Given the description of an element on the screen output the (x, y) to click on. 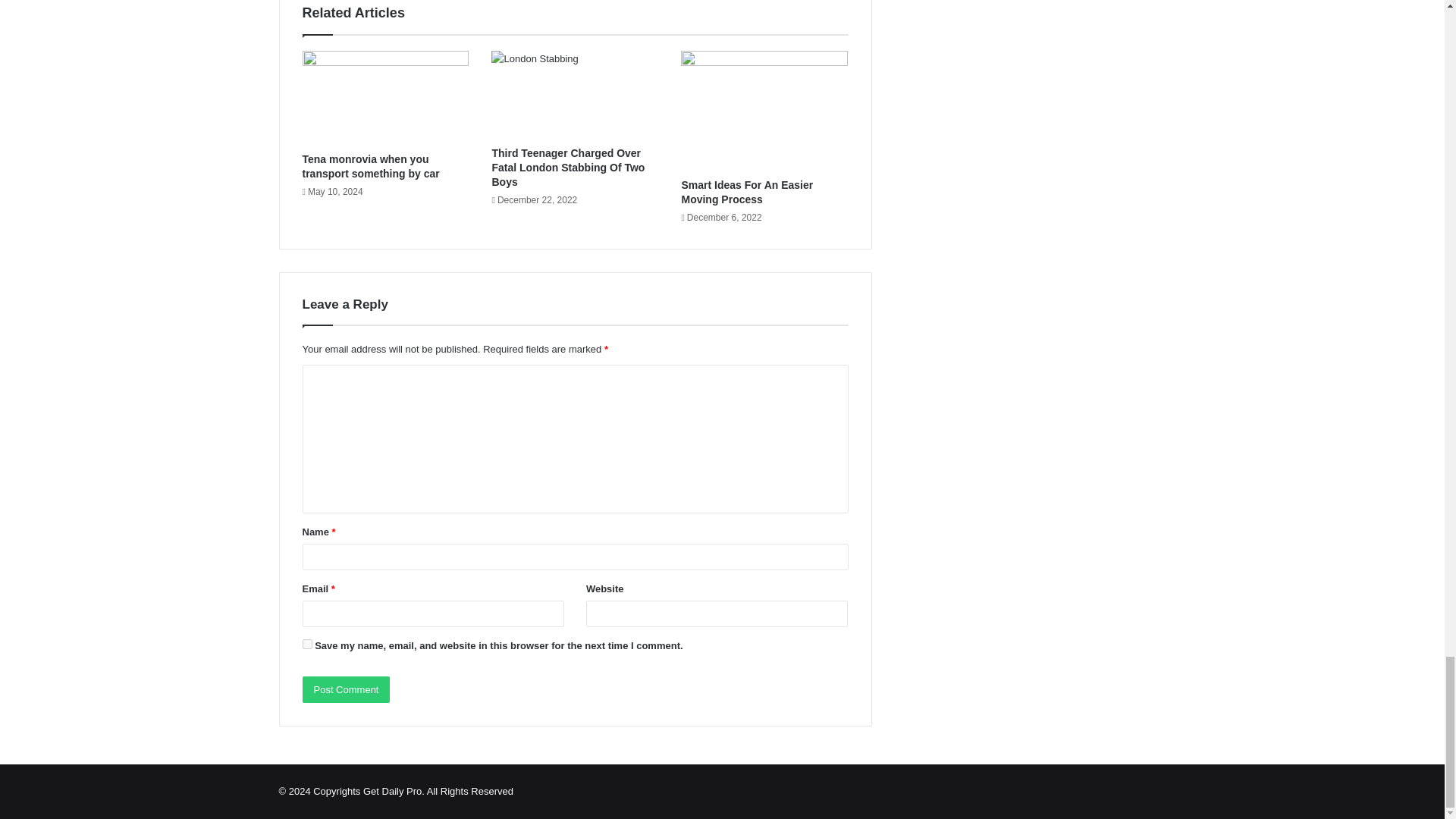
Post Comment (345, 689)
yes (306, 644)
